Given the description of an element on the screen output the (x, y) to click on. 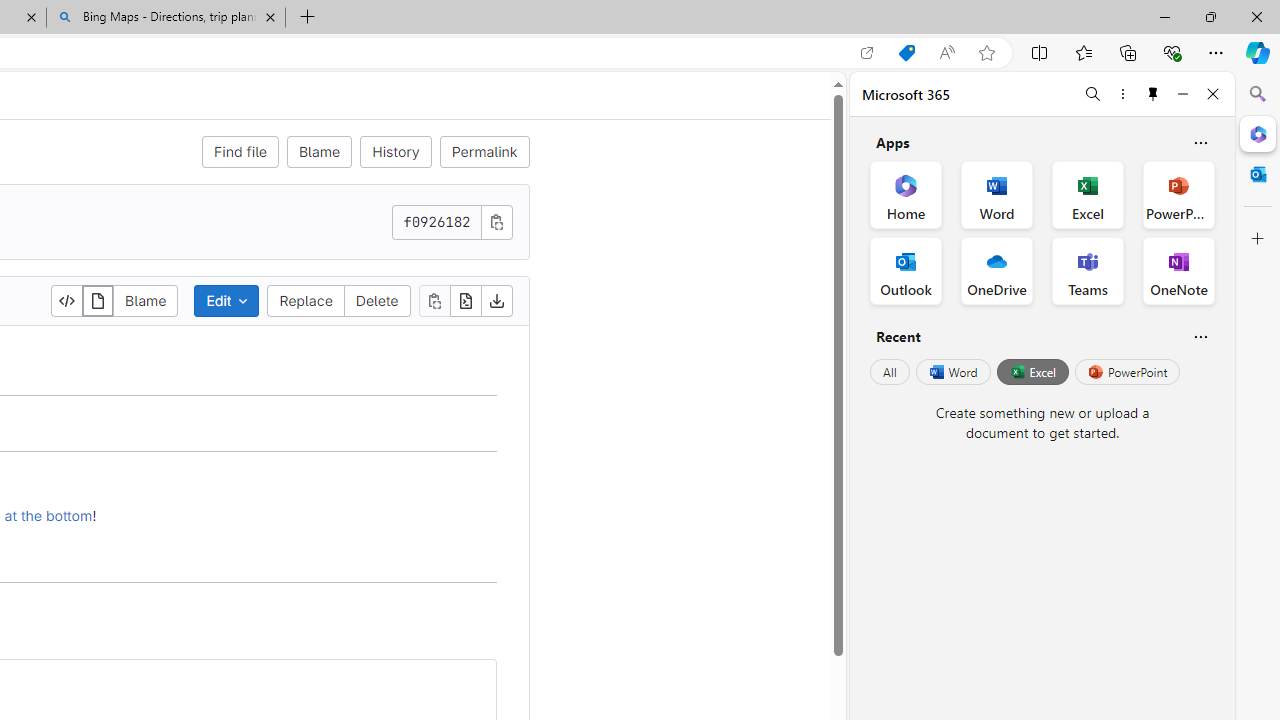
OneDrive Office App (996, 270)
Excel (1031, 372)
PowerPoint Office App (1178, 194)
Class: btn btn-default btn-md gl-button btn-icon has-tooltip (472, 682)
Blame (145, 300)
Is this helpful? (1200, 336)
Copy commit SHA (496, 221)
Open raw (465, 300)
Delete (376, 300)
Copy file contents (434, 300)
Home Office App (906, 194)
